Given the description of an element on the screen output the (x, y) to click on. 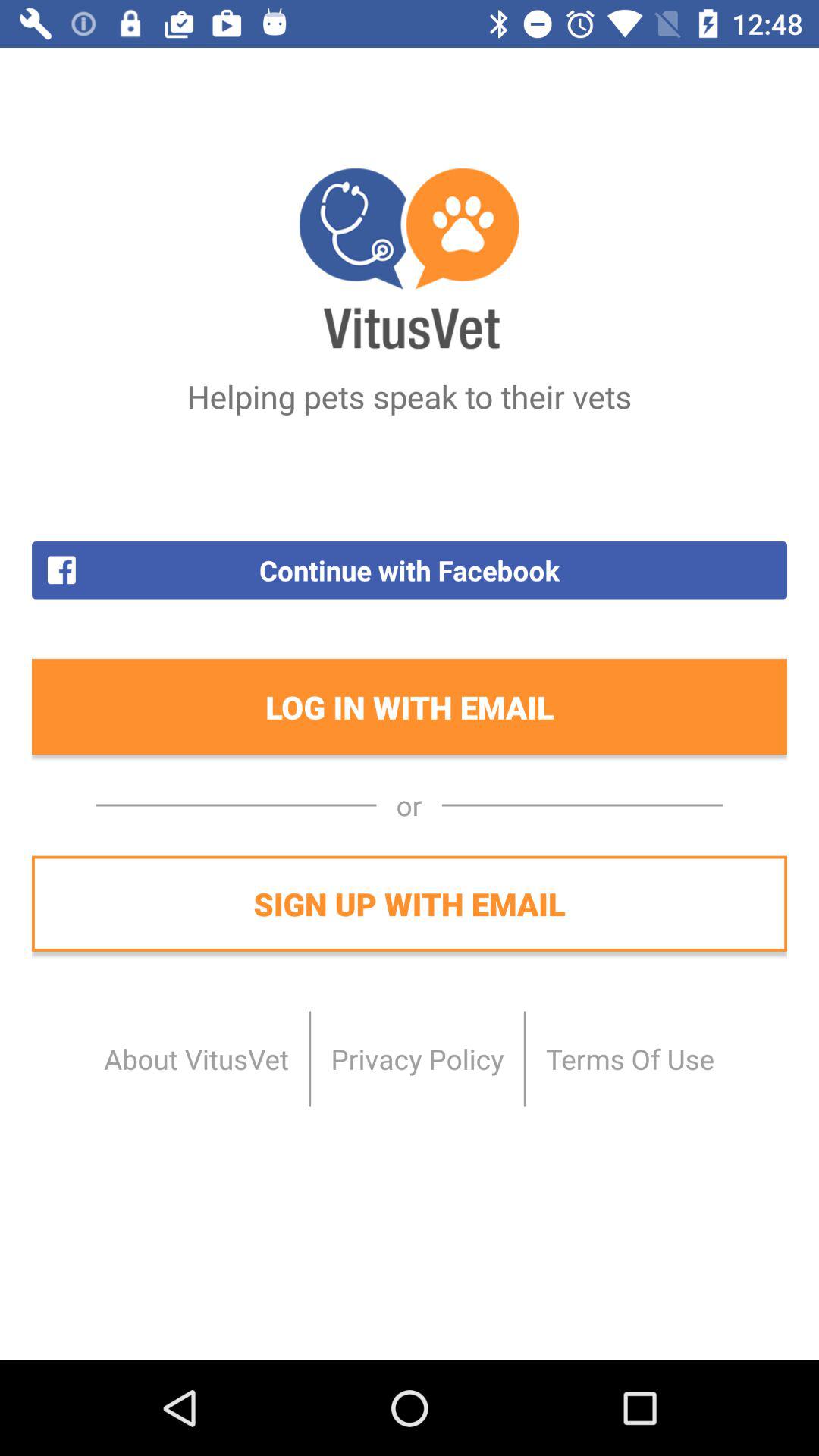
click icon below the continue with facebook icon (409, 706)
